Given the description of an element on the screen output the (x, y) to click on. 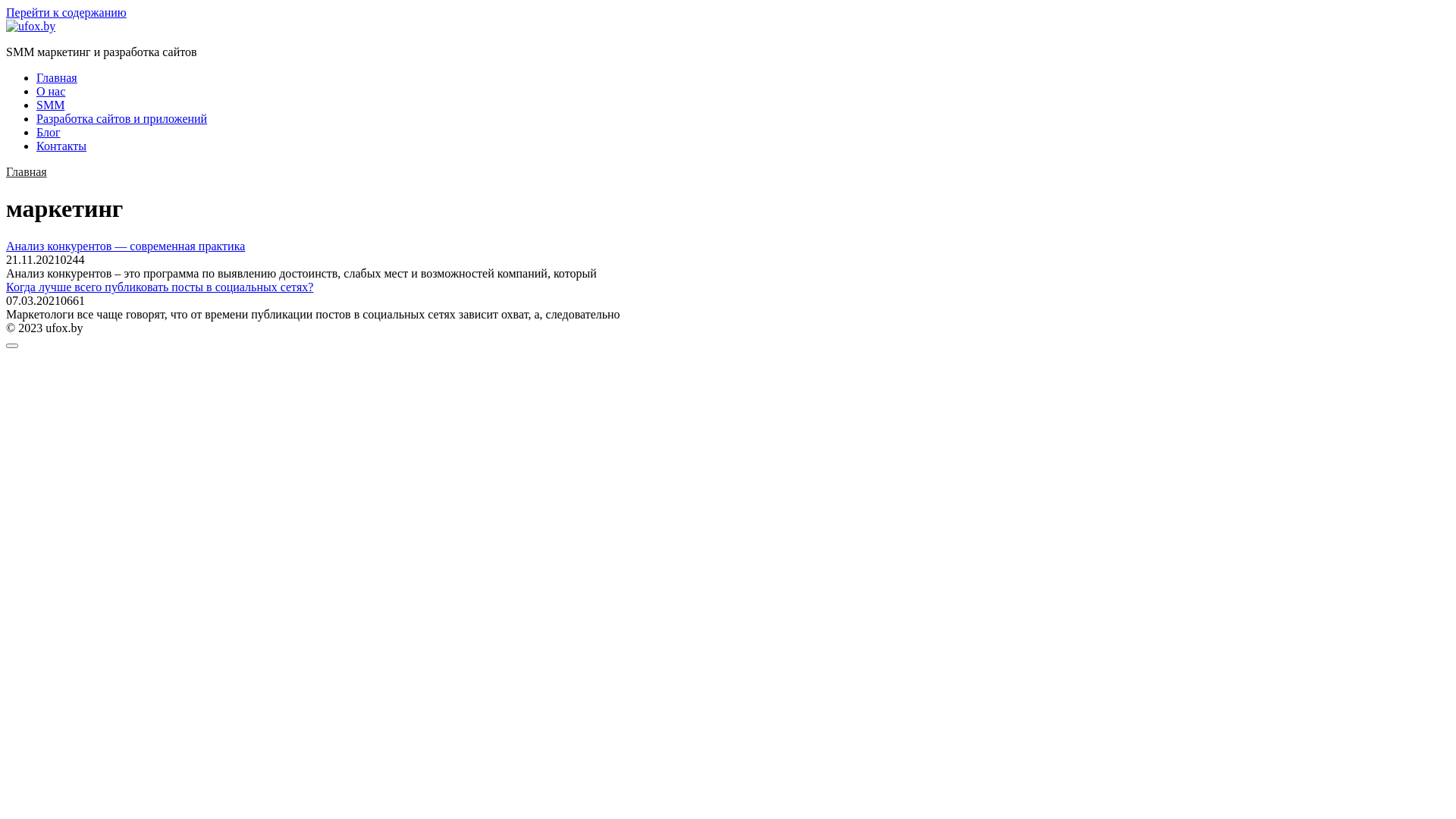
SMM Element type: text (50, 104)
